Given the description of an element on the screen output the (x, y) to click on. 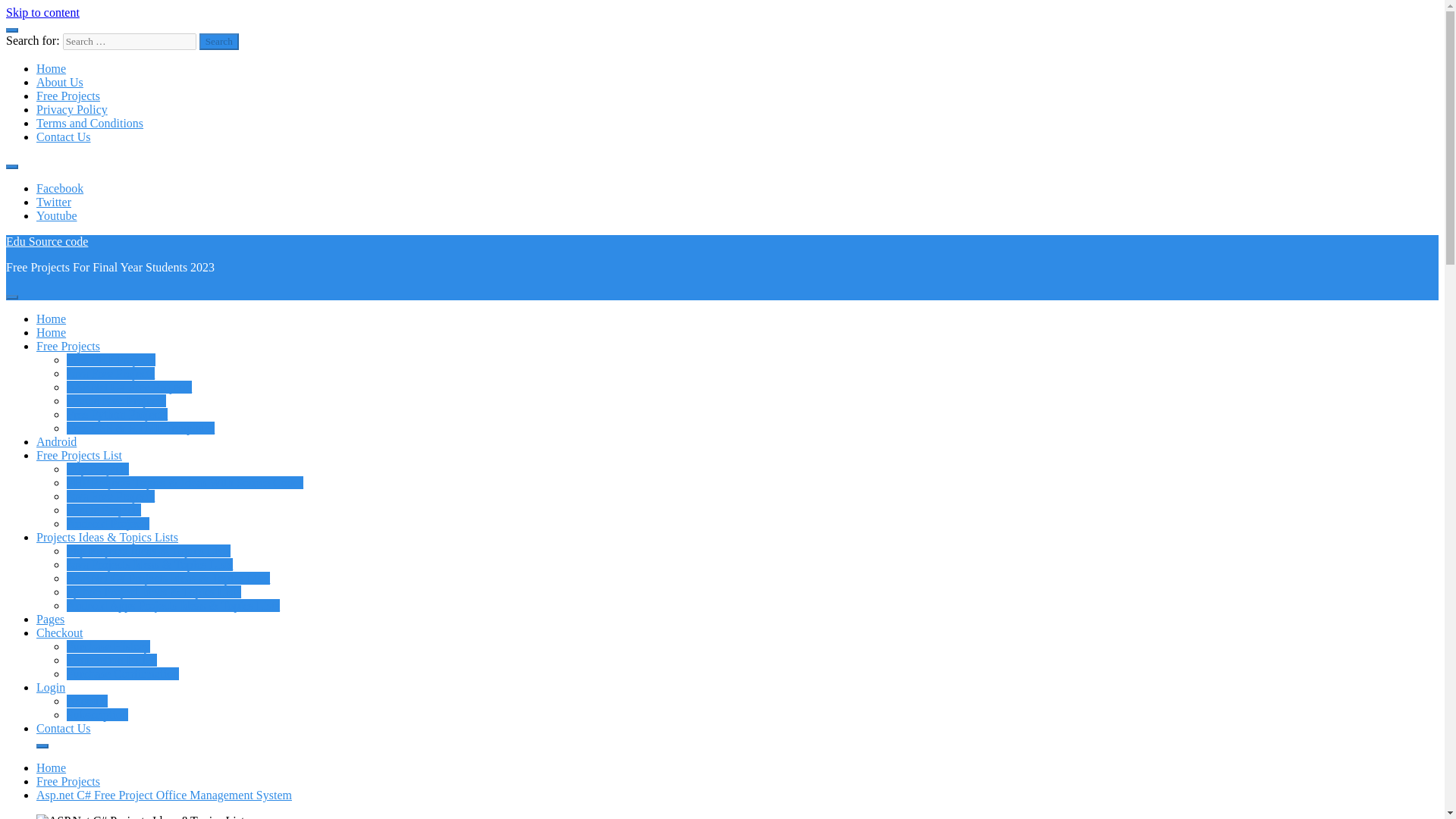
Android (56, 440)
Oracle Projects (103, 509)
Search (218, 41)
Contact Us (63, 136)
Twitter (53, 201)
PHP Projects (184, 481)
Projects List (79, 454)
Privacy Policy (71, 109)
Home (50, 332)
Skip to content (42, 11)
Edu Source code (46, 241)
Pages (50, 618)
Java Free Projects (110, 495)
Home (50, 68)
Terms and Conditions (89, 123)
